Given the description of an element on the screen output the (x, y) to click on. 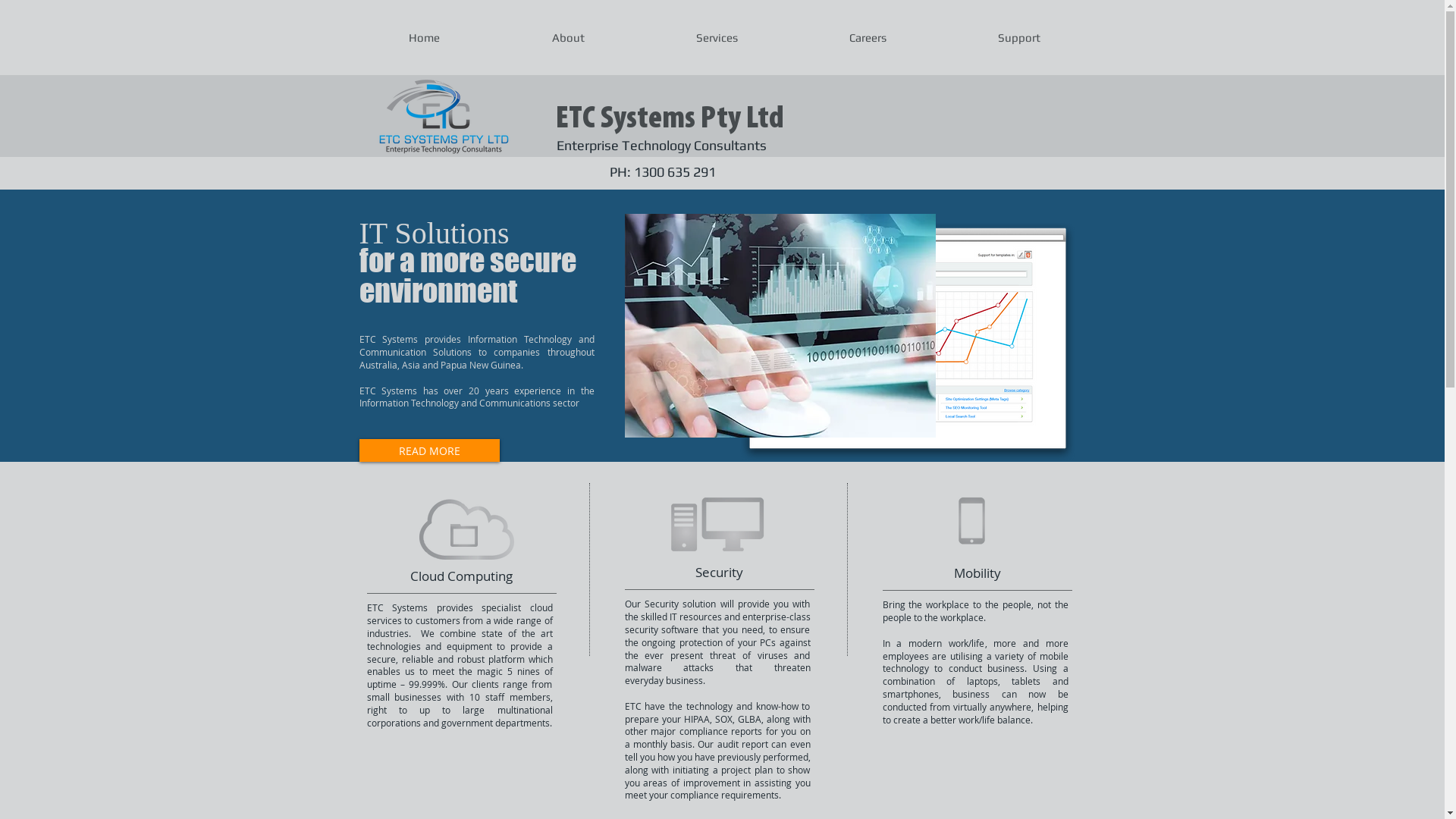
Careers Element type: text (866, 37)
Services Element type: text (715, 37)
READ MORE Element type: text (429, 450)
Support Element type: text (1018, 37)
Home Element type: text (424, 37)
About Element type: text (567, 37)
